Given the description of an element on the screen output the (x, y) to click on. 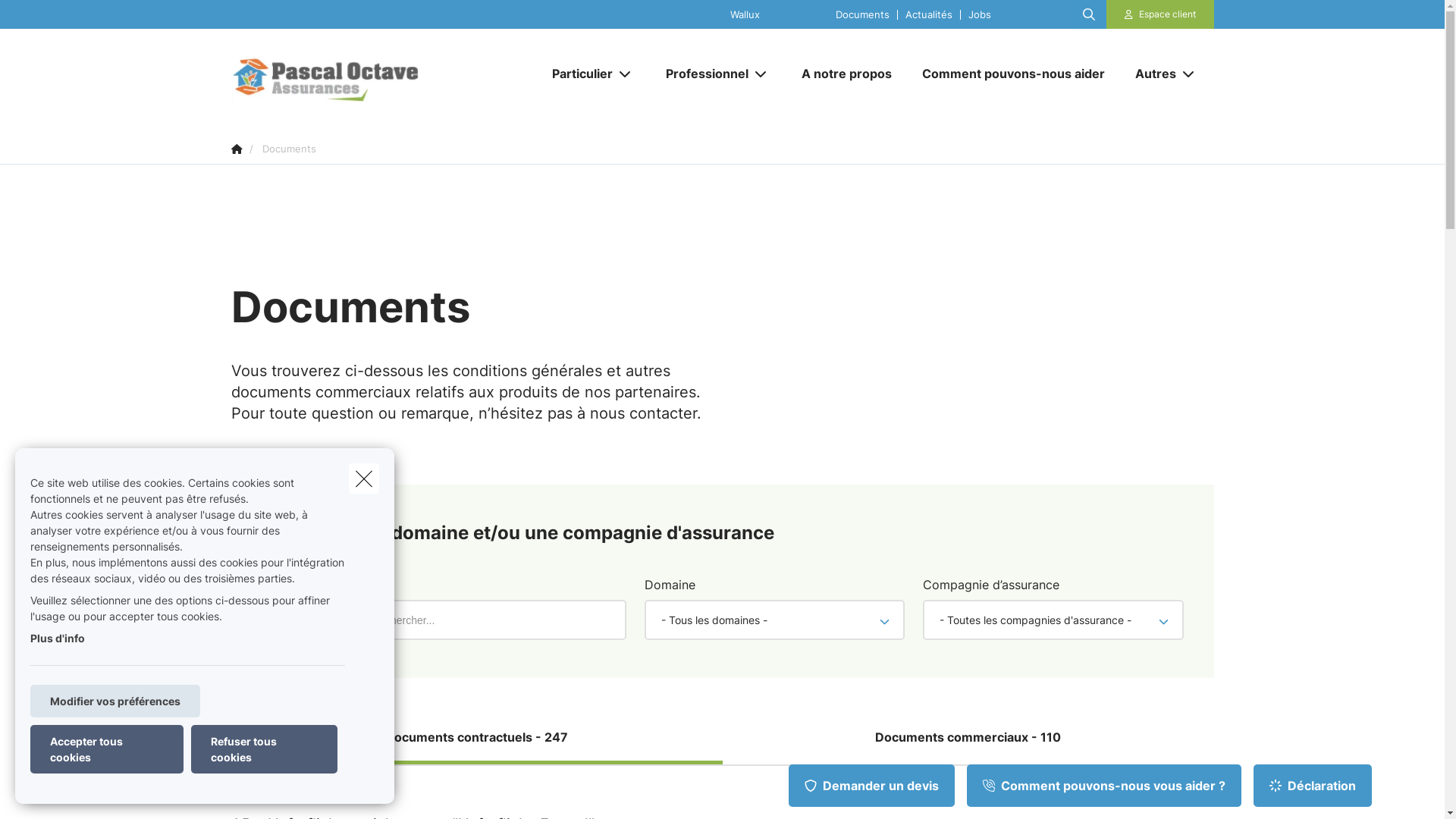
Jobs Element type: text (979, 13)
Comment pouvons-nous vous aider ? Element type: text (1103, 785)
Documents Element type: text (862, 13)
Autres Element type: text (1149, 73)
Demander un devis Element type: text (871, 785)
Accepter tous cookies Element type: text (106, 748)
Espace client Element type: text (1167, 14)
A notre propos Element type: text (845, 73)
Particulier Element type: text (576, 73)
Wallux Element type: text (744, 13)
Plus d'info Element type: text (57, 637)
Documents commerciaux - 110 Element type: text (967, 737)
Comment pouvons-nous aider Element type: text (1013, 73)
Espace client Element type: text (1160, 14)
Professionnel Element type: text (701, 73)
Rechercher Element type: text (54, 18)
Refuser tous cookies Element type: text (264, 748)
Documents contractuels - 247 Element type: text (475, 737)
